Given the description of an element on the screen output the (x, y) to click on. 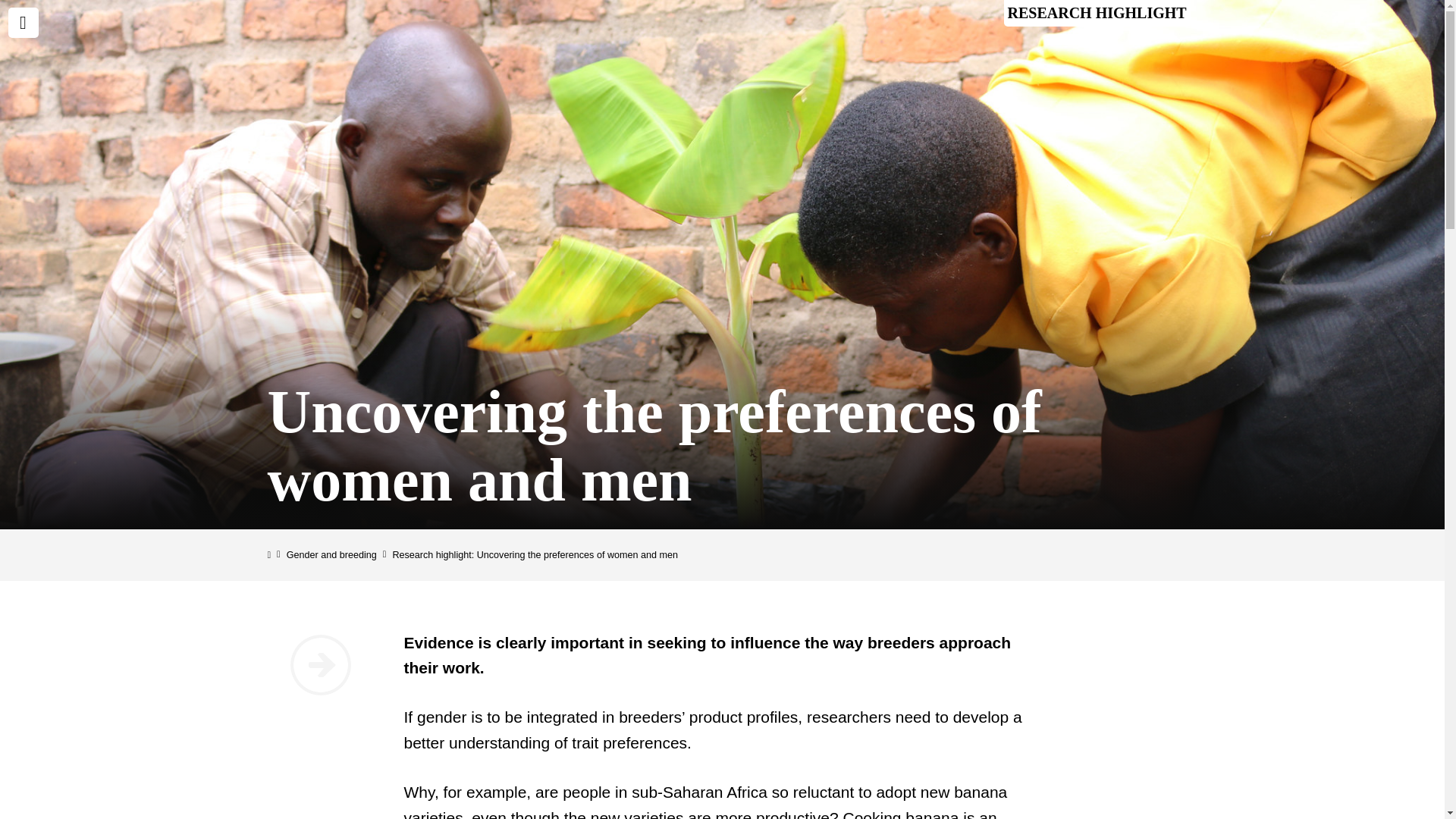
Gender and breeding (331, 554)
You Are Here (534, 554)
